Given the description of an element on the screen output the (x, y) to click on. 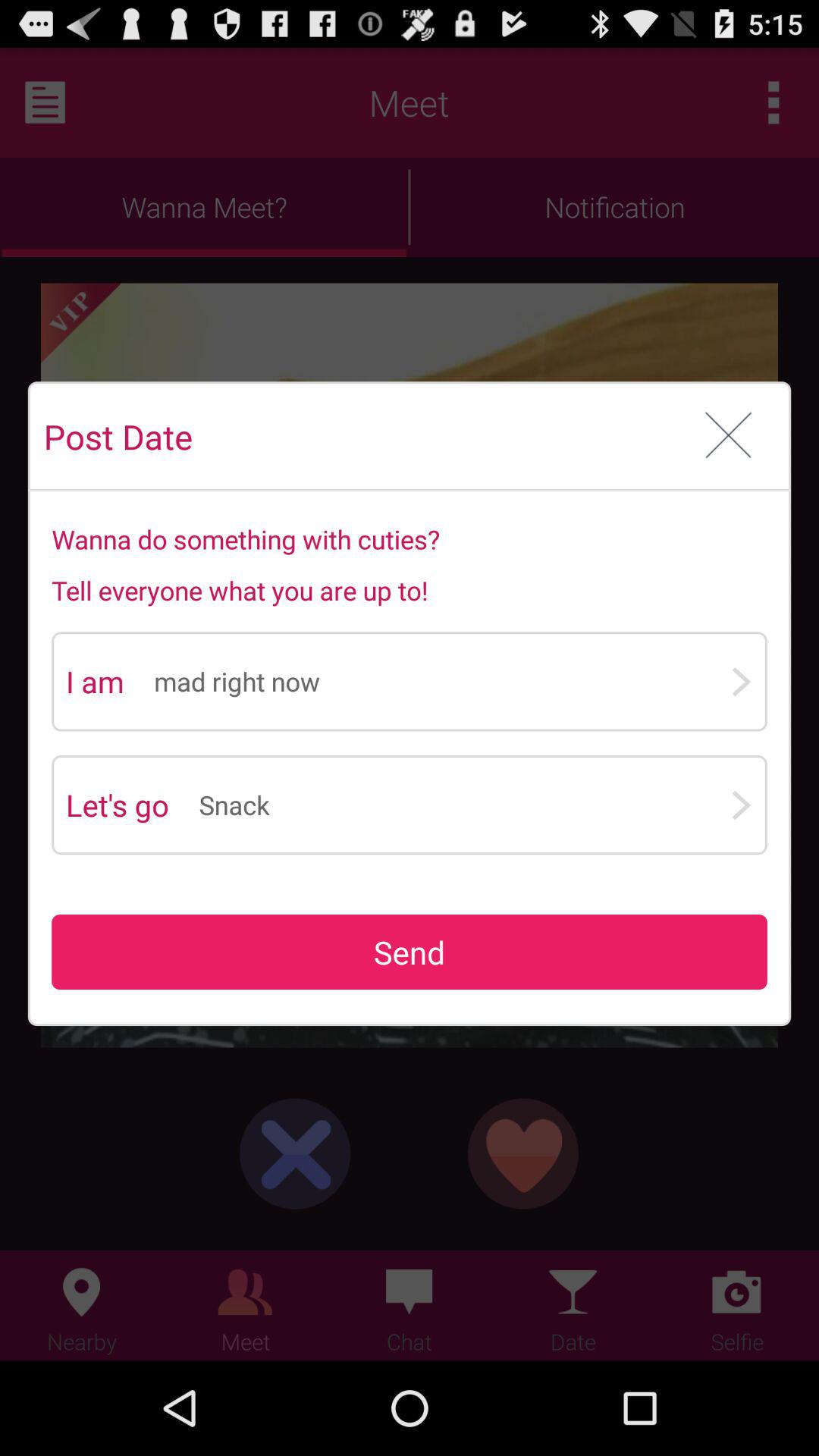
turn off mad right now icon (442, 681)
